Given the description of an element on the screen output the (x, y) to click on. 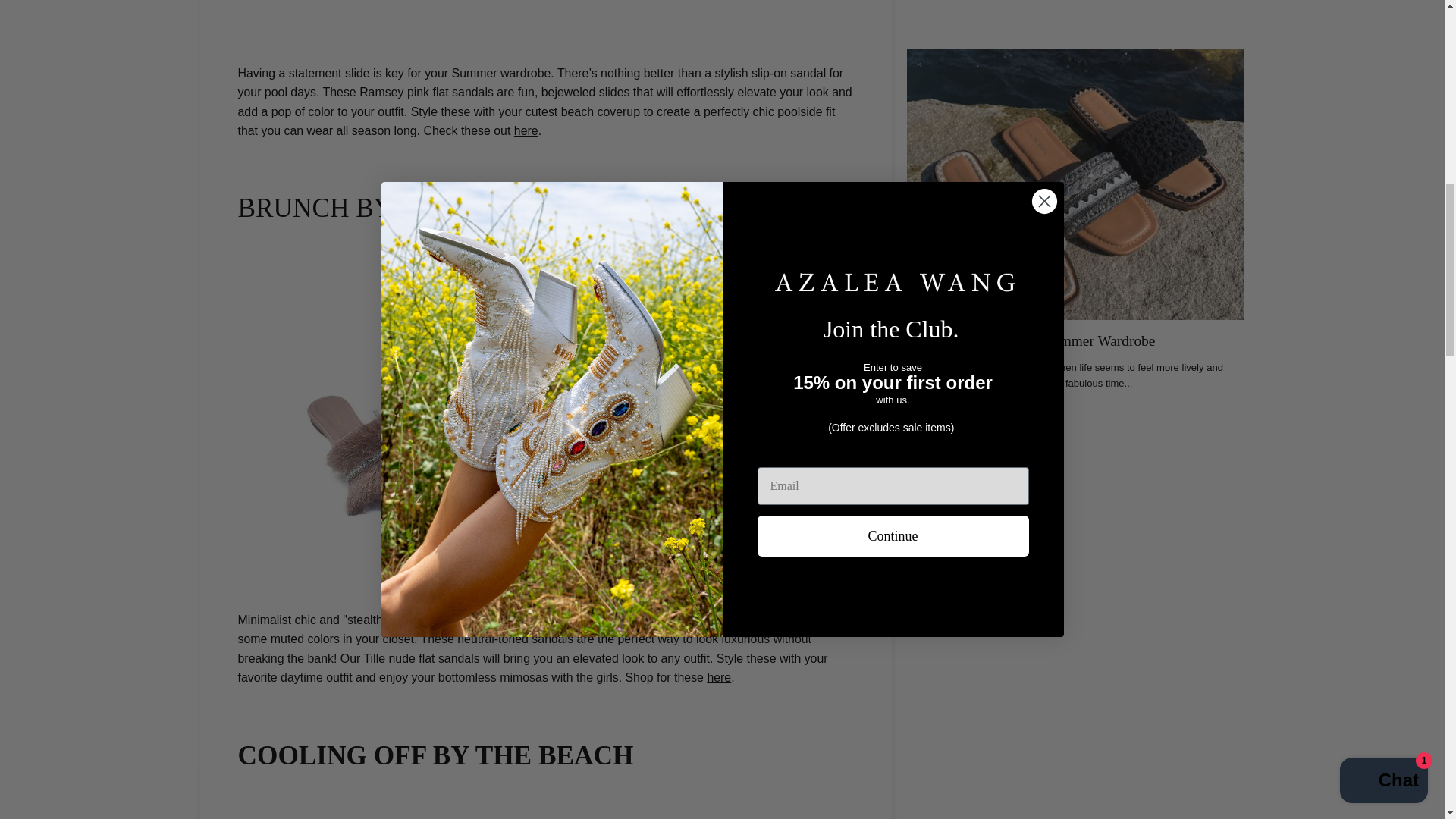
TILLE-NUDE FLAT SANDALS (718, 676)
RAMSEY PINK FLAT SANDAL (525, 130)
